Given the description of an element on the screen output the (x, y) to click on. 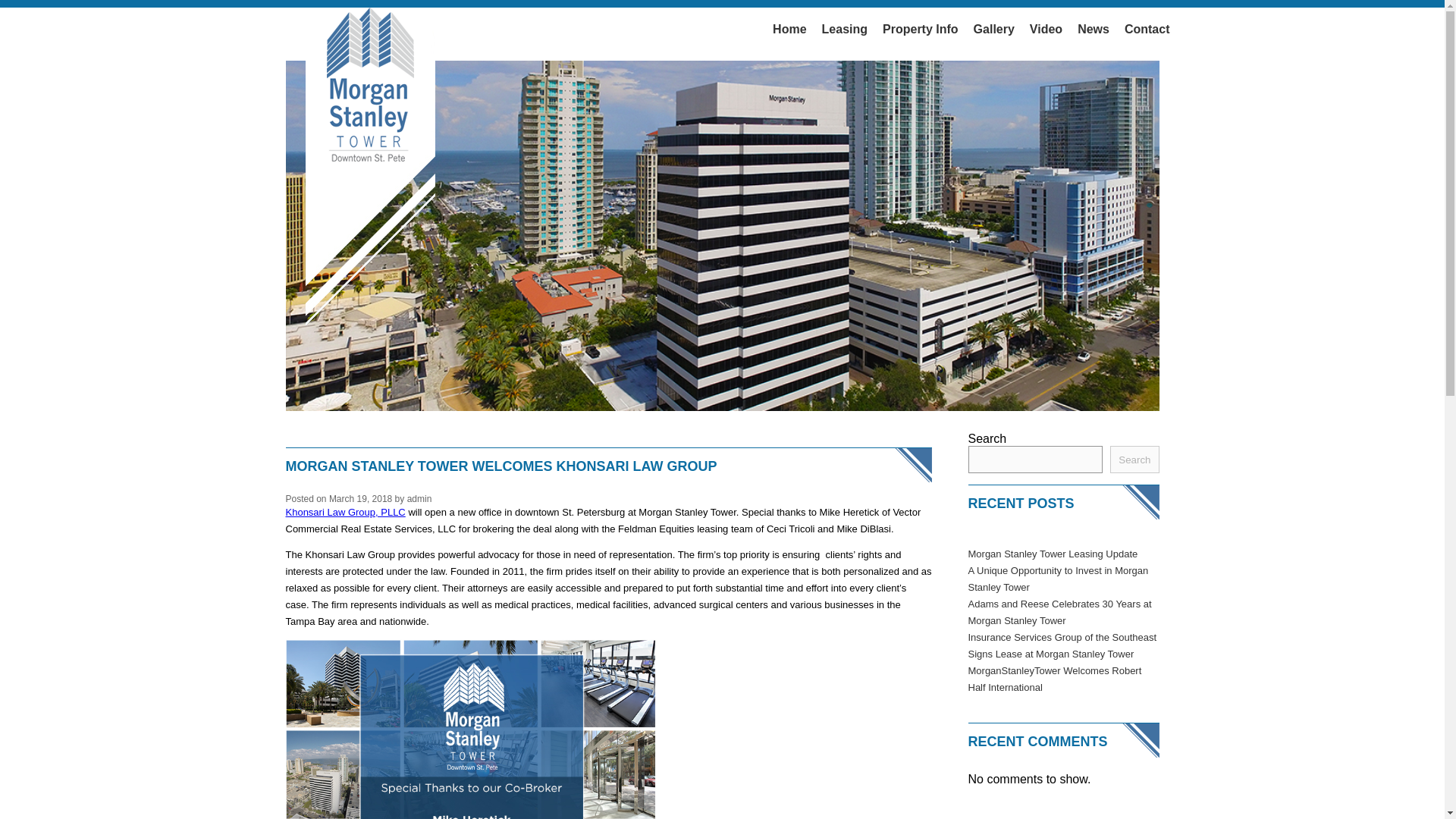
Video (1046, 29)
admin (419, 498)
Home (789, 29)
Adams and Reese Celebrates 30 Years at Morgan Stanley Tower (1059, 612)
A Unique Opportunity to Invest in Morgan Stanley Tower (1058, 578)
Gallery (994, 29)
MorganStanleyTower Welcomes Robert Half International (1054, 678)
March 19, 2018 (360, 498)
News (1093, 29)
Property Info (920, 29)
Search (1133, 459)
2:17 pm (360, 498)
Leasing (844, 29)
View all posts by admin (419, 498)
Morgan Stanley Tower Leasing Update (1052, 553)
